Given the description of an element on the screen output the (x, y) to click on. 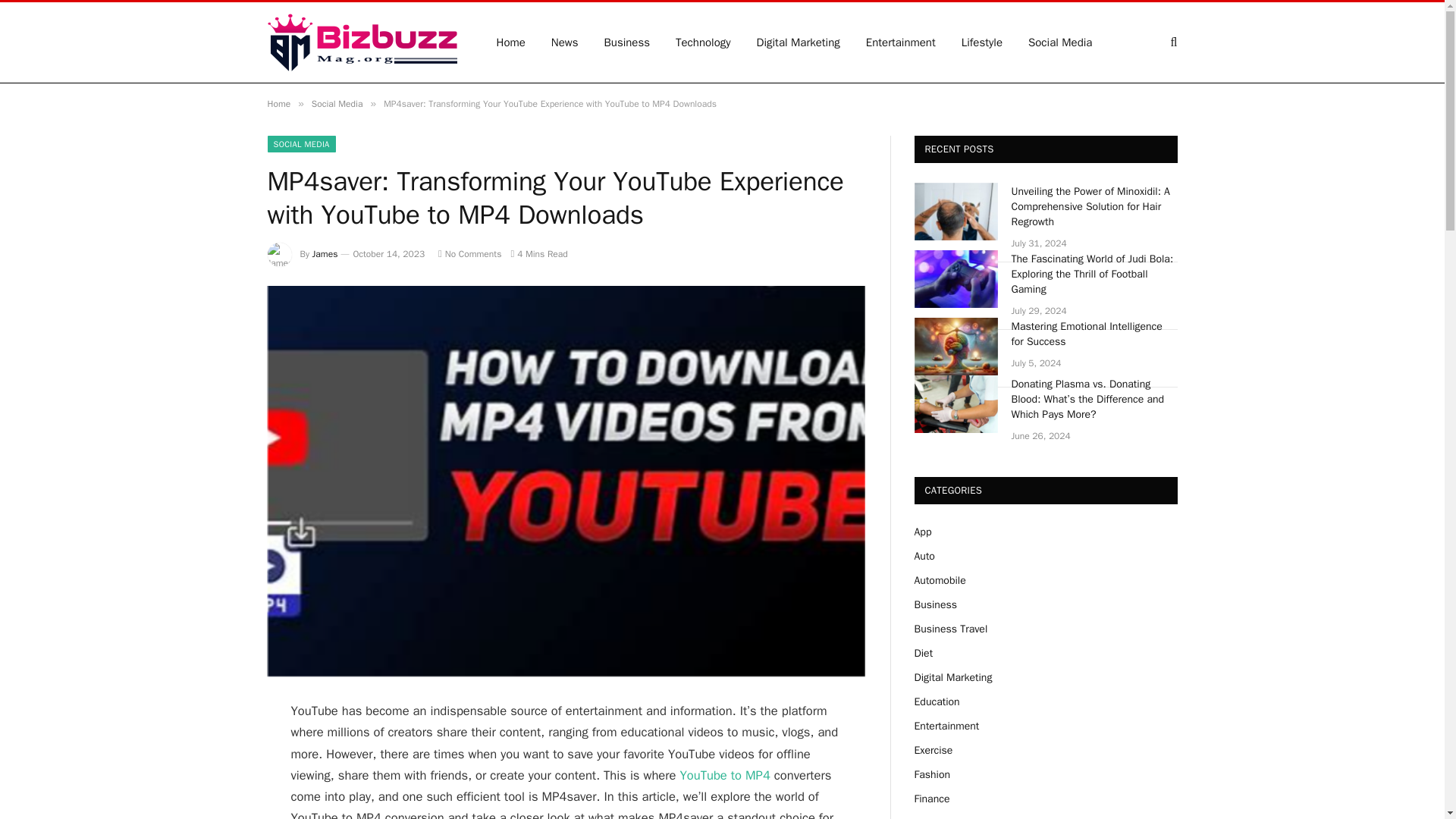
Entertainment (901, 42)
Home (277, 103)
Mastering Emotional Intelligence for Success (1094, 334)
James (325, 254)
No Comments (469, 254)
Bizbuzzmag.org (361, 41)
Digital Marketing (798, 42)
YouTube to MP4 (724, 774)
Social Media (336, 103)
Posts by James (325, 254)
Technology (703, 42)
SOCIAL MEDIA (300, 143)
